Given the description of an element on the screen output the (x, y) to click on. 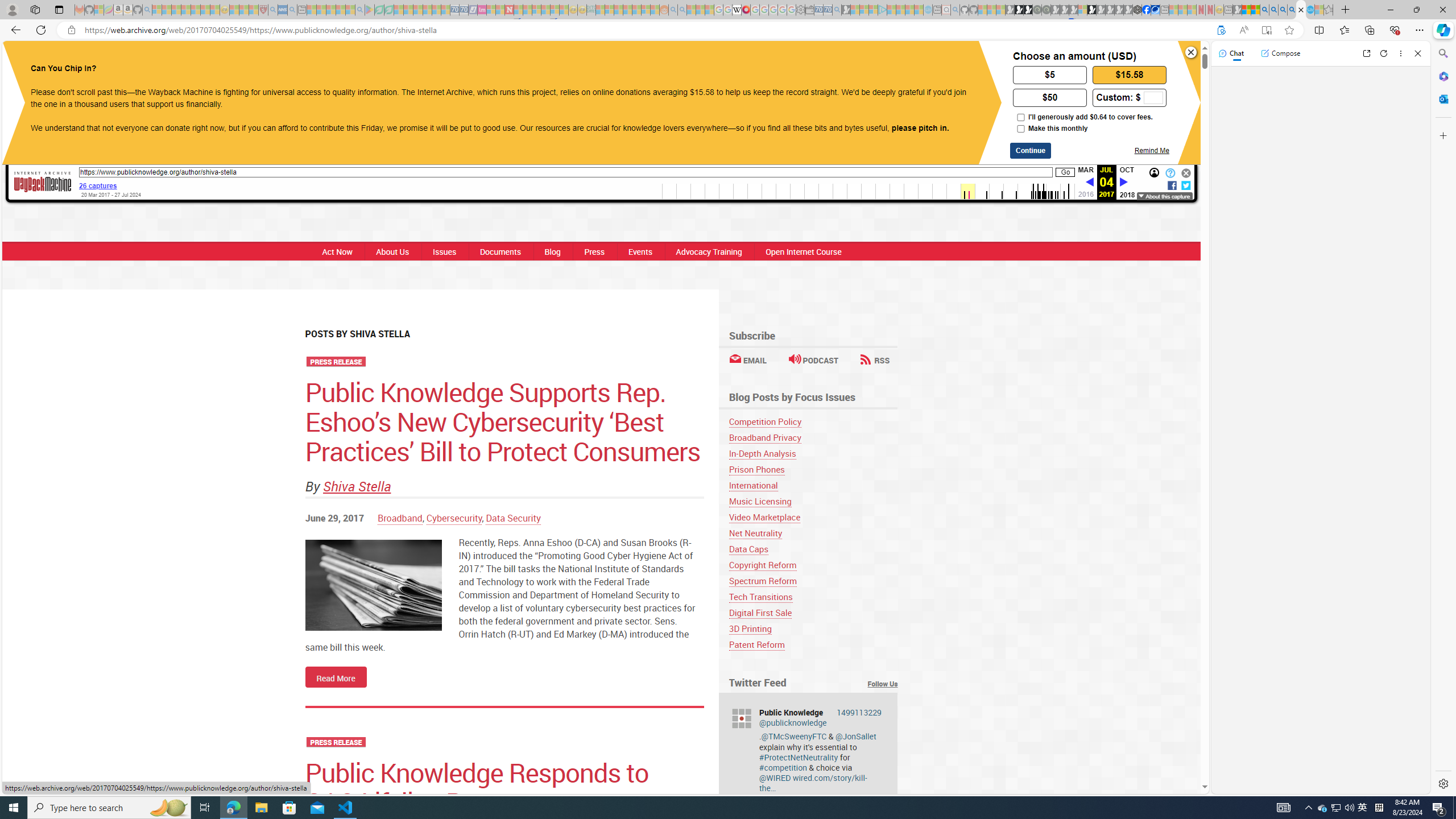
Press (593, 251)
Wayback Machine (42, 181)
Read More (335, 676)
Shiva Stella (357, 486)
Open the menu (446, 61)
AutomationID: wmtbURL (565, 172)
Blog (552, 251)
2018 (1127, 194)
